Given the description of an element on the screen output the (x, y) to click on. 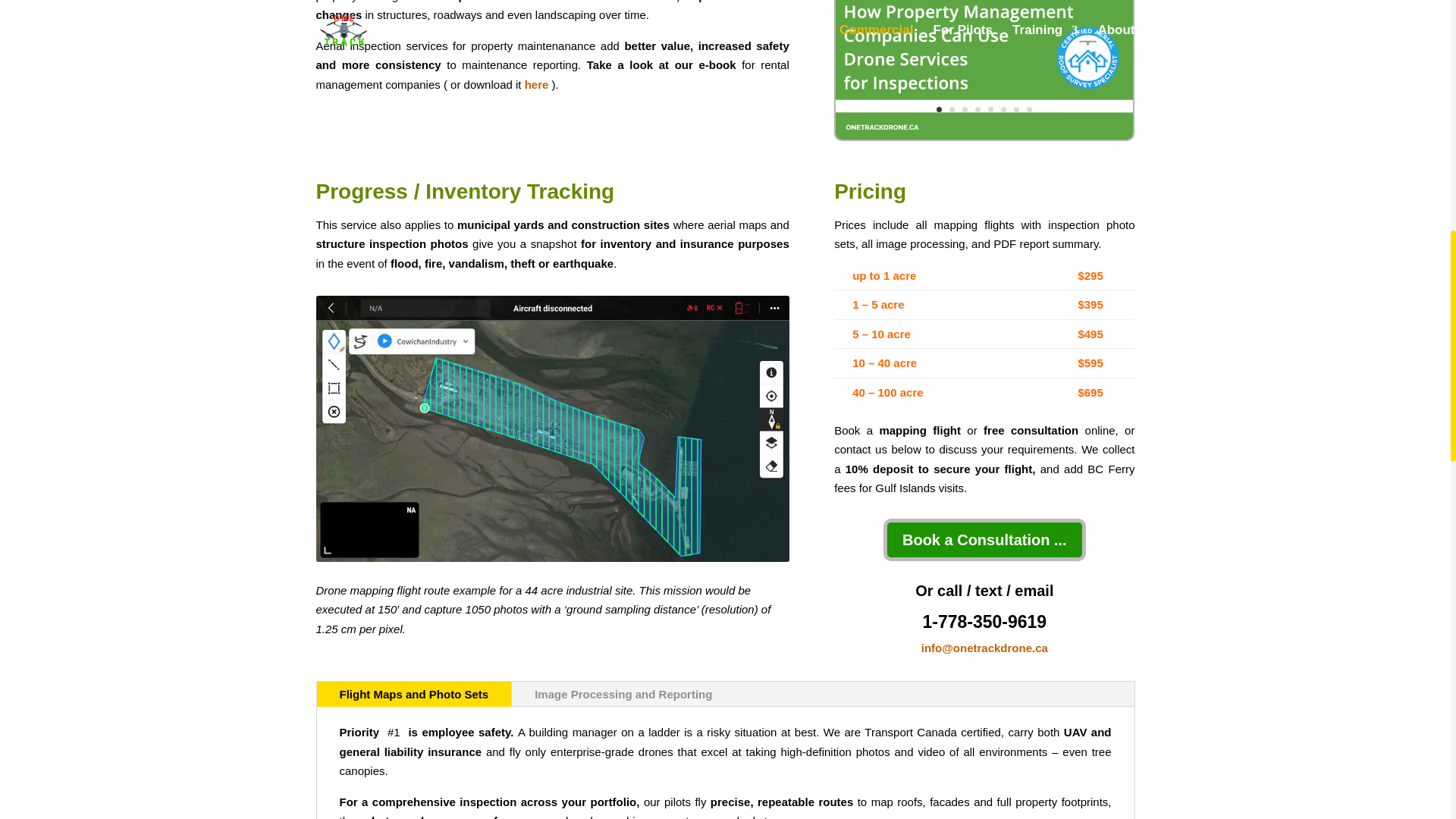
Image Processing and Reporting (623, 694)
Flight Maps and Photo Sets (414, 694)
1 (983, 134)
